Given the description of an element on the screen output the (x, y) to click on. 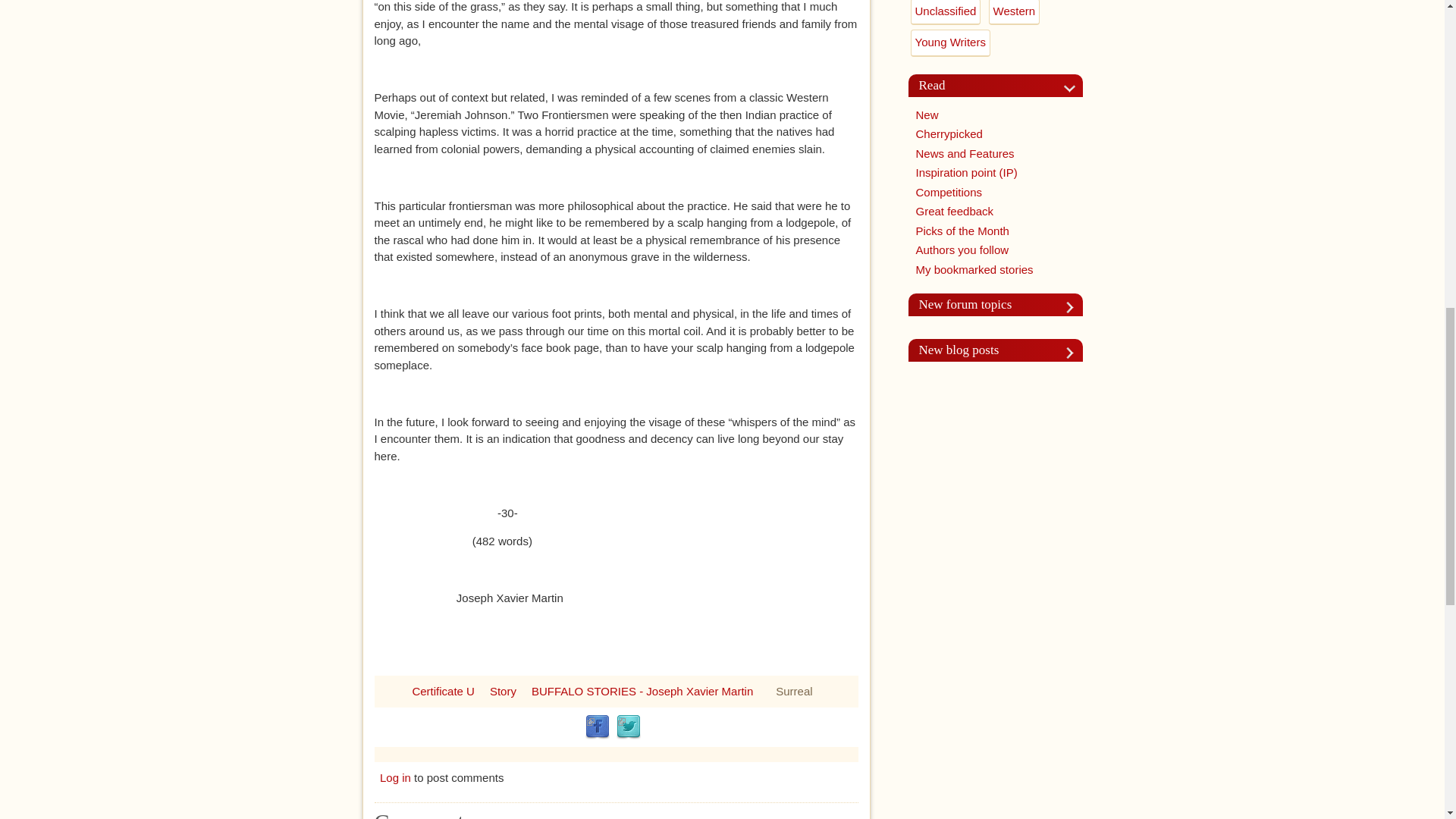
Log in (395, 777)
Facebook (597, 726)
Story (502, 689)
Facebook (597, 726)
BUFFALO STORIES - Joseph Xavier Martin (641, 689)
Twitter (627, 726)
Surreal (794, 689)
Twitter (627, 726)
Certificate U (443, 689)
